Given the description of an element on the screen output the (x, y) to click on. 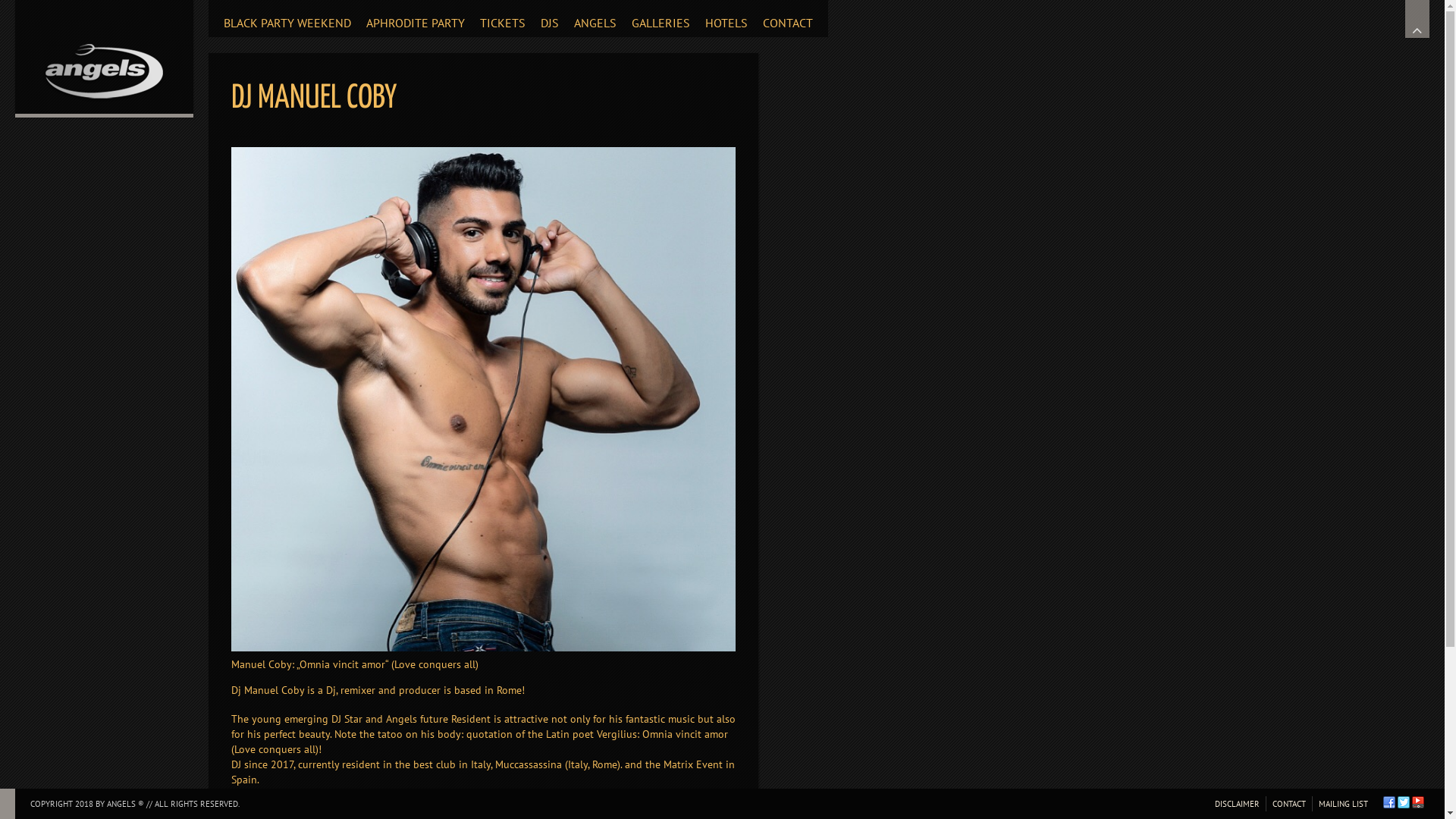
ANGELS Element type: text (595, 18)
DJS Element type: text (549, 18)
APHRODITE PARTY Element type: text (415, 18)
BLACK PARTY WEEKEND Element type: text (287, 18)
twitter Element type: hover (1403, 802)
facebook Element type: hover (1389, 802)
TICKETS Element type: text (502, 18)
DISCLAIMER Element type: text (1239, 803)
HOTELS Element type: text (726, 18)
MAILING LIST Element type: text (1342, 803)
GALLERIES Element type: text (660, 18)
CONTACT Element type: text (1288, 803)
CONTACT Element type: text (787, 18)
angels :: leading gay parties switzerland Element type: hover (104, 56)
youtube Element type: hover (1418, 802)
